Given the description of an element on the screen output the (x, y) to click on. 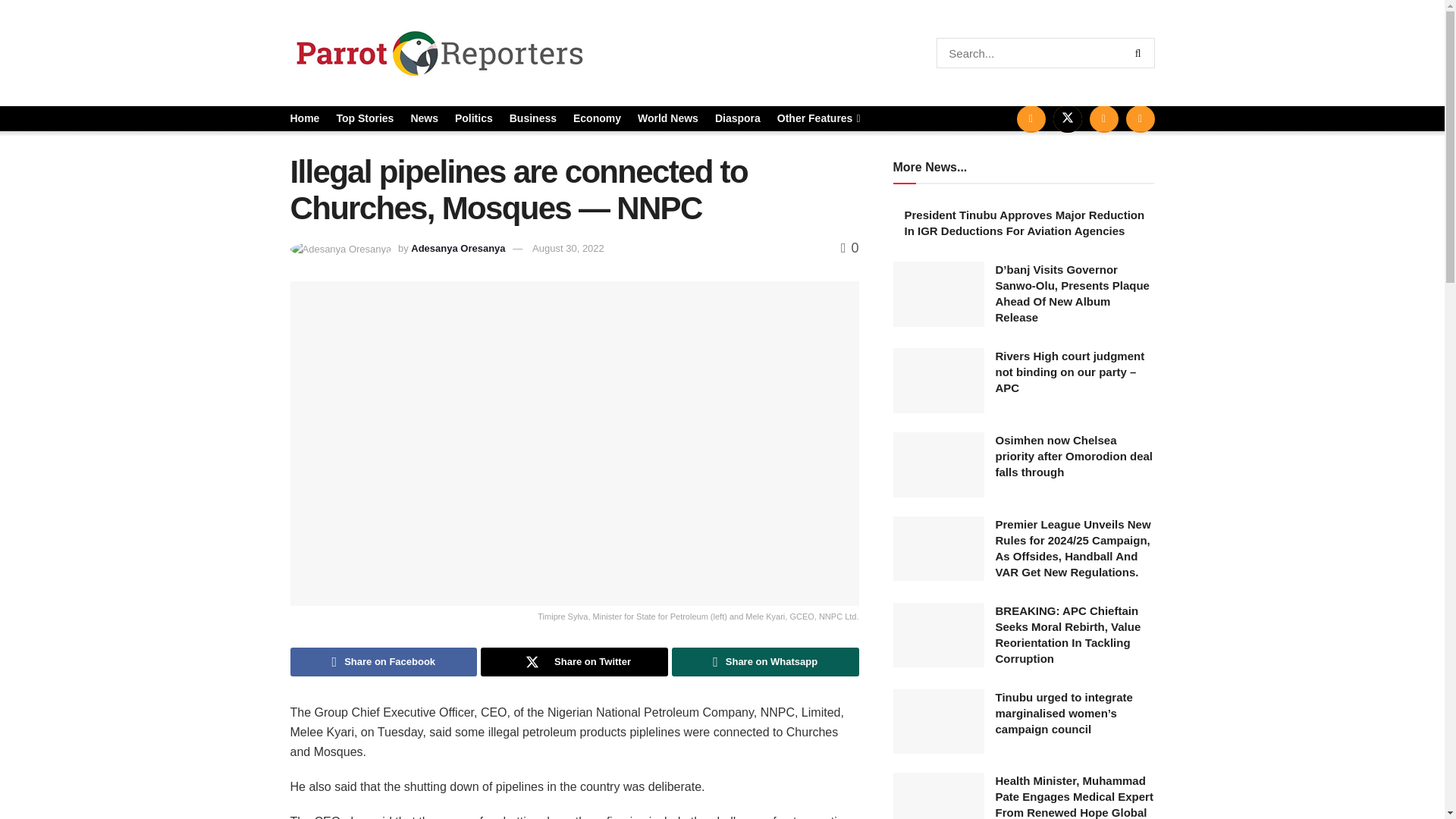
News (424, 118)
Other Features (818, 118)
Share on Twitter (574, 661)
Adesanya Oresanya (457, 247)
August 30, 2022 (568, 247)
Politics (473, 118)
Home (303, 118)
0 (850, 247)
Diaspora (737, 118)
